Given the description of an element on the screen output the (x, y) to click on. 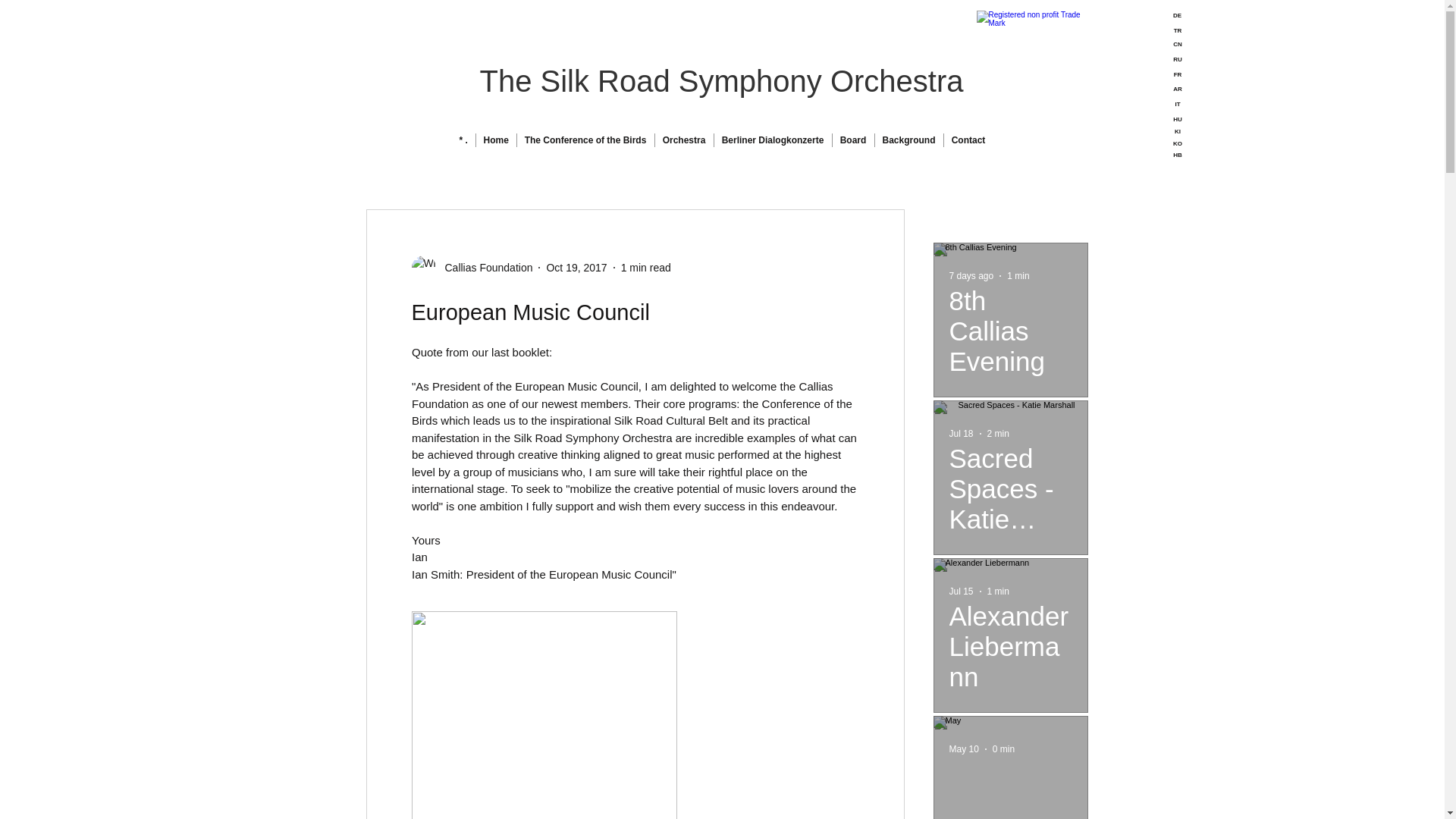
DE (1176, 15)
May 10 (963, 748)
Home (496, 140)
0 min (1003, 748)
Berliner Dialogkonzerte (772, 140)
Oct 19, 2017 (576, 266)
Callias Foundation (471, 267)
Jul 18 (961, 433)
Contact (967, 140)
KI (1177, 131)
